Given the description of an element on the screen output the (x, y) to click on. 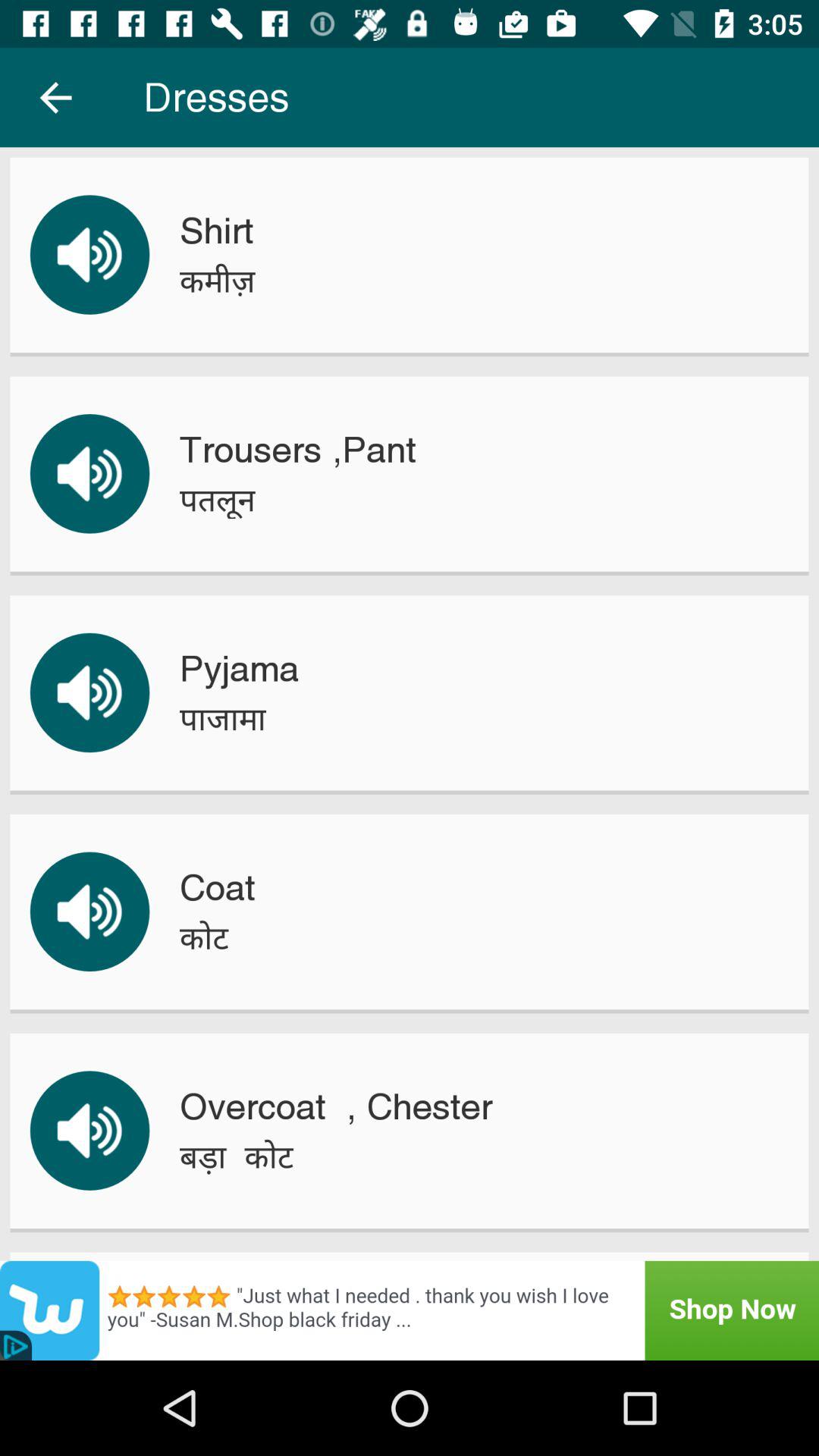
swipe until the overcoat  , chester icon (335, 1106)
